Given the description of an element on the screen output the (x, y) to click on. 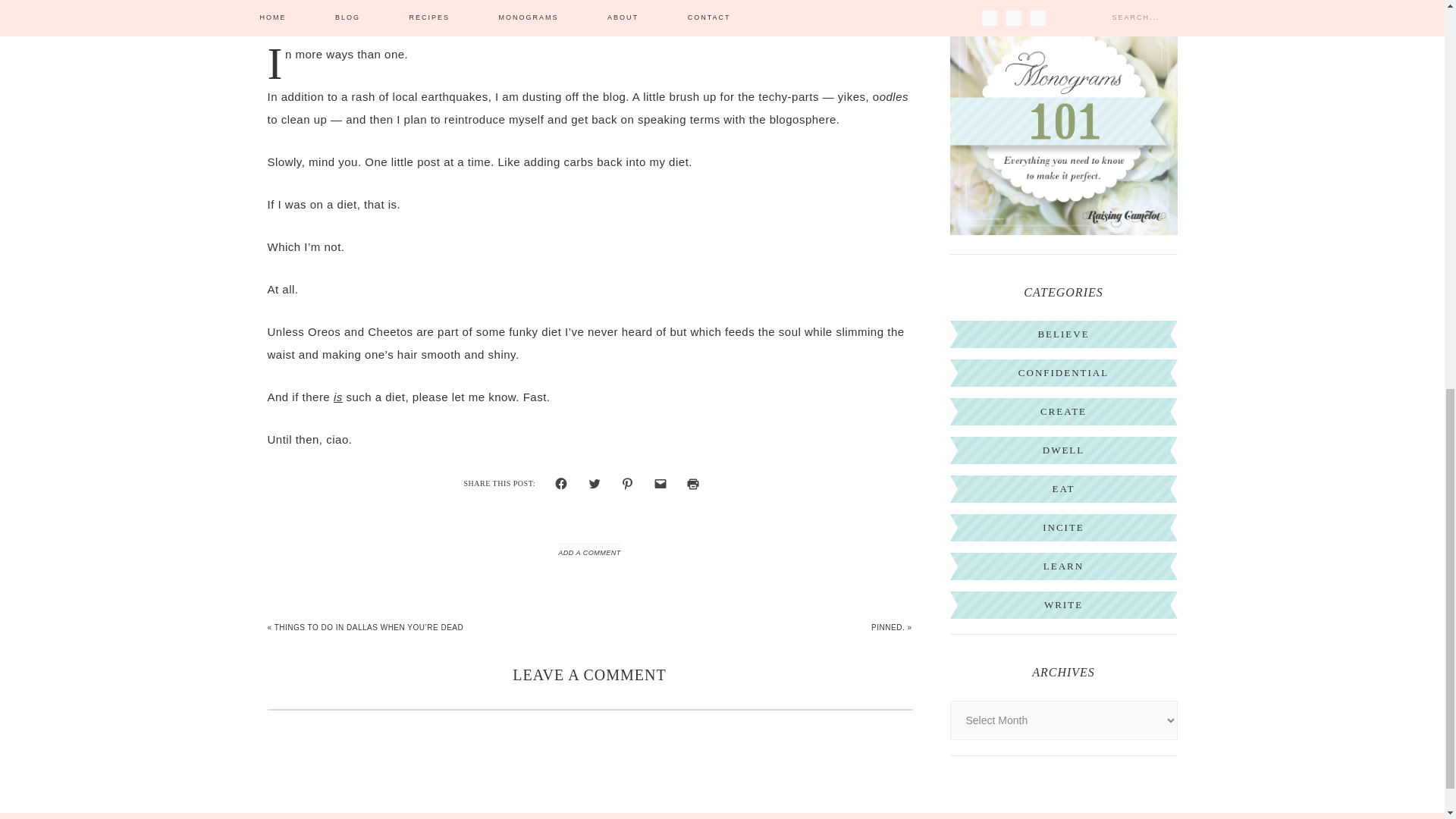
ADD A COMMENT (588, 552)
Click to email a link to a friend (660, 483)
Click to print (692, 483)
BELIEVE (1062, 333)
Click to share on Twitter (594, 483)
DWELL (1063, 449)
Click to share on Pinterest (627, 483)
EAT (1063, 488)
Click to share on Facebook (561, 483)
